Given the description of an element on the screen output the (x, y) to click on. 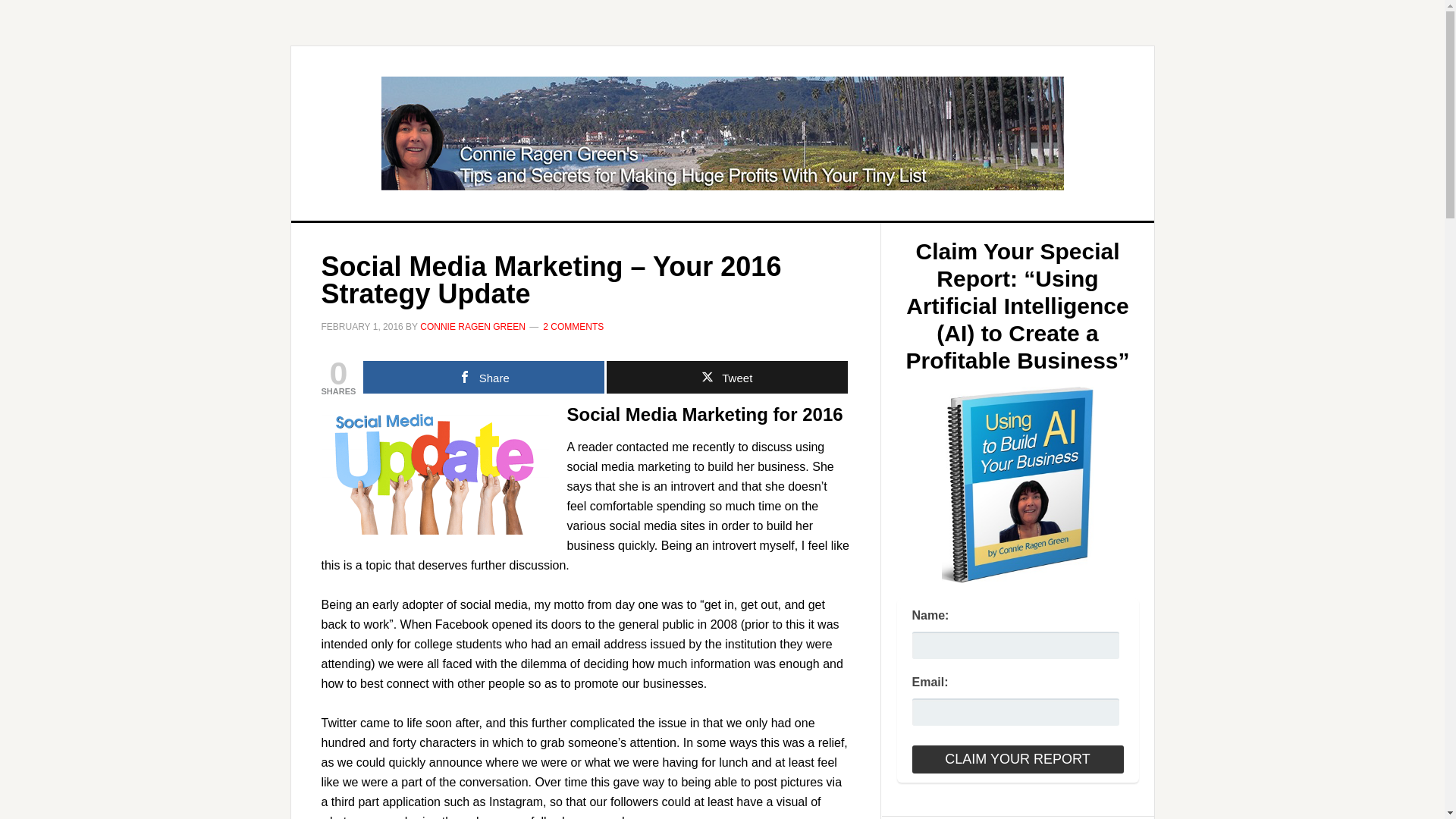
Claim Your Report (1016, 759)
Share (483, 377)
Tweet (727, 377)
2 COMMENTS (573, 326)
HUGE PROFITS TINY LIST WITH CONNIE RAGEN GREEN (722, 133)
CONNIE RAGEN GREEN (472, 326)
Claim Your Report (1016, 759)
